Given the description of an element on the screen output the (x, y) to click on. 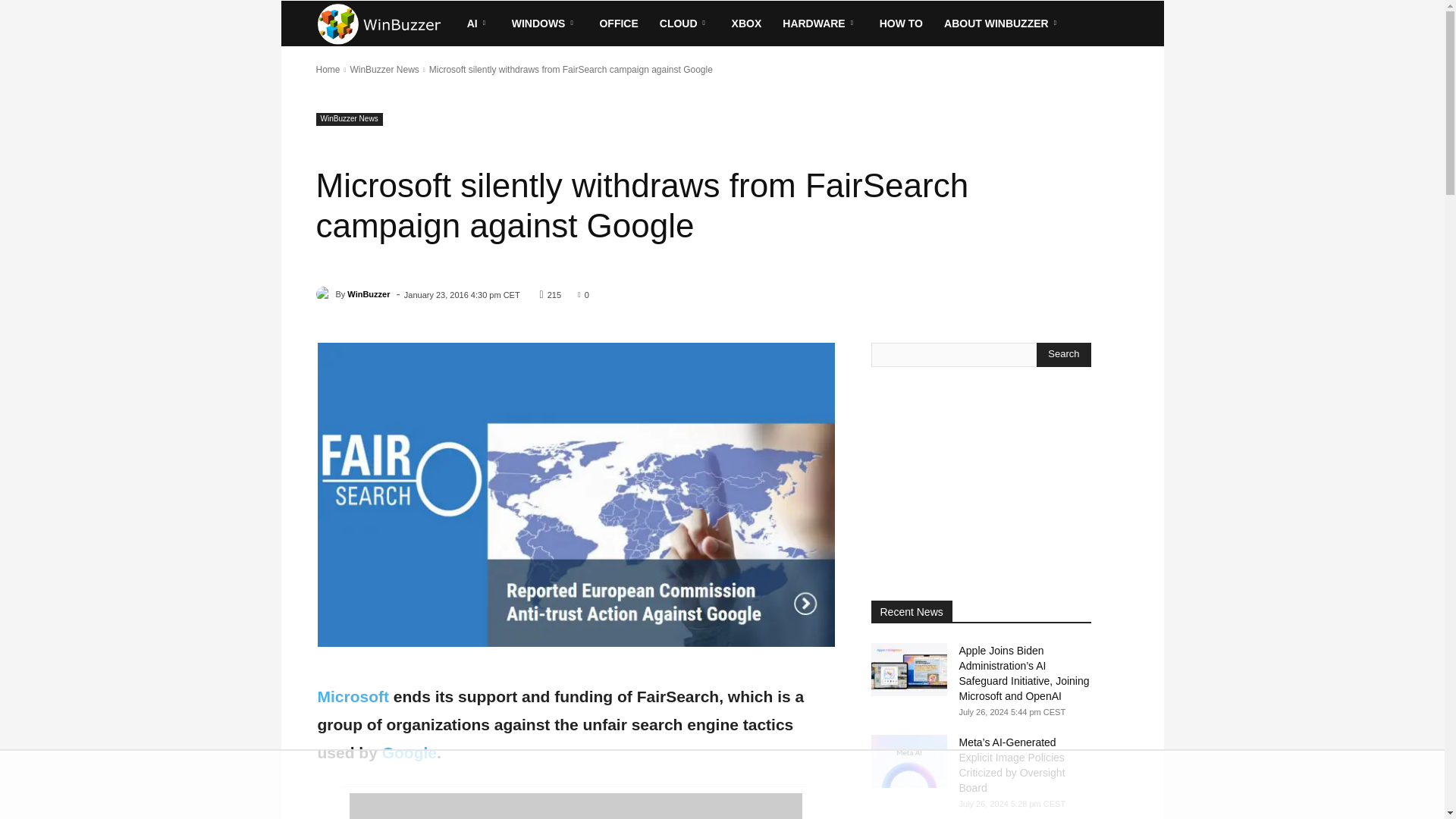
Posts tagged with Google (408, 751)
View all posts in WinBuzzer News (384, 69)
Posts tagged with Microsoft (352, 696)
WinBuzzer (324, 294)
Search (1063, 354)
